Given the description of an element on the screen output the (x, y) to click on. 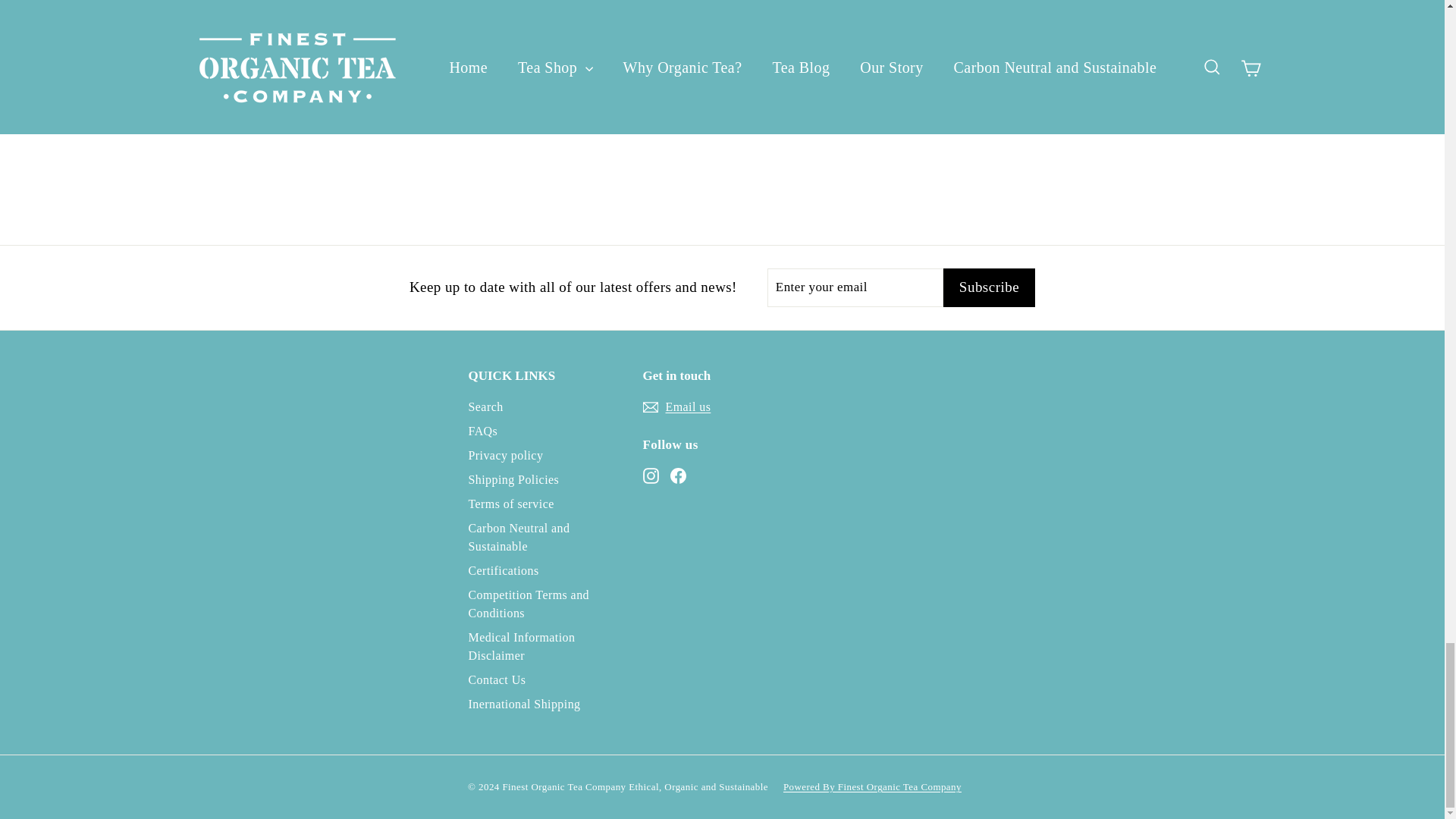
instagram (651, 475)
